Given the description of an element on the screen output the (x, y) to click on. 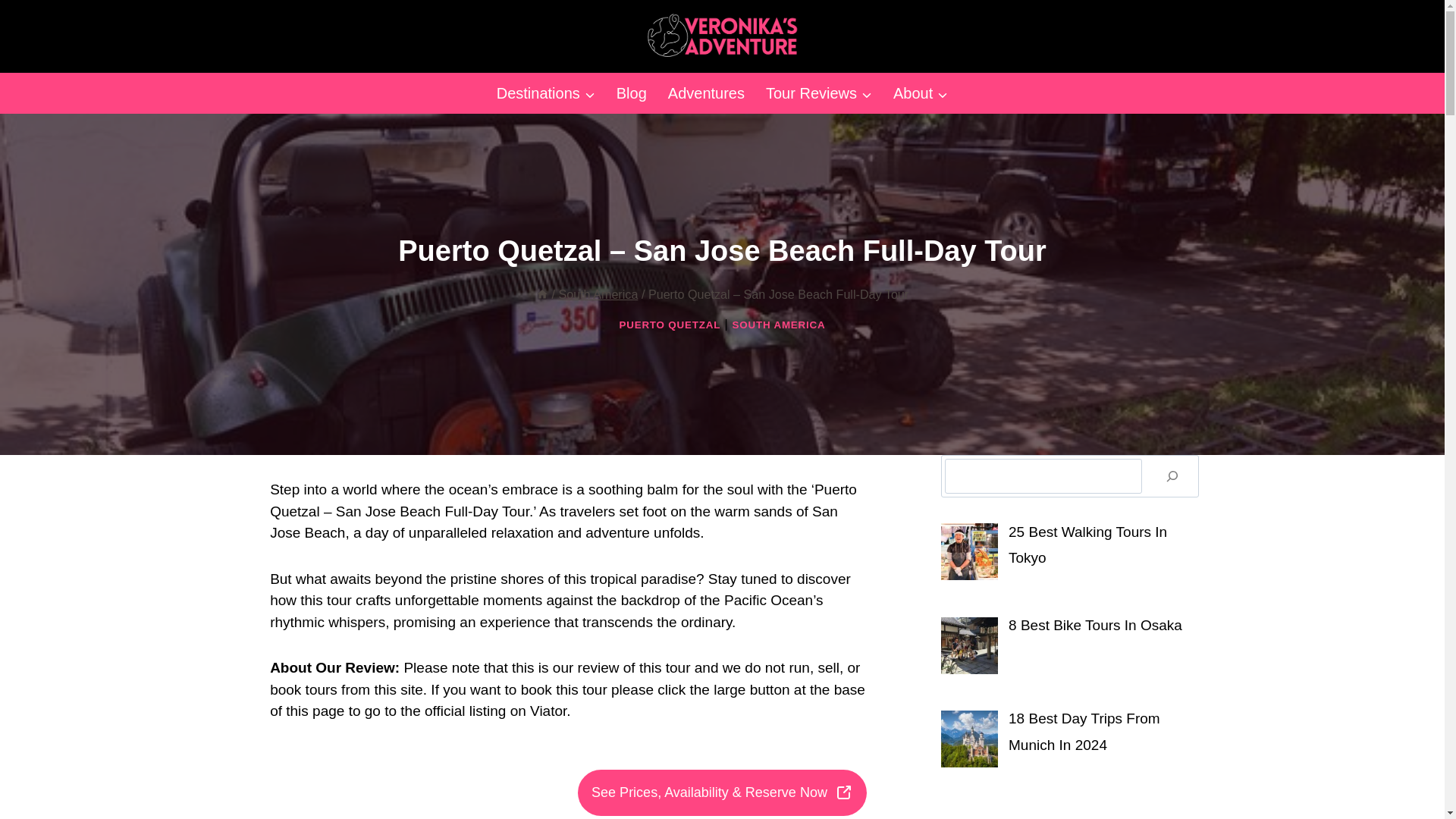
About (920, 92)
Home (541, 294)
South America (597, 294)
SOUTH AMERICA (778, 324)
Adventures (706, 92)
Destinations (545, 92)
Tour Reviews (818, 92)
PUERTO QUETZAL (669, 324)
Blog (631, 92)
